Given the description of an element on the screen output the (x, y) to click on. 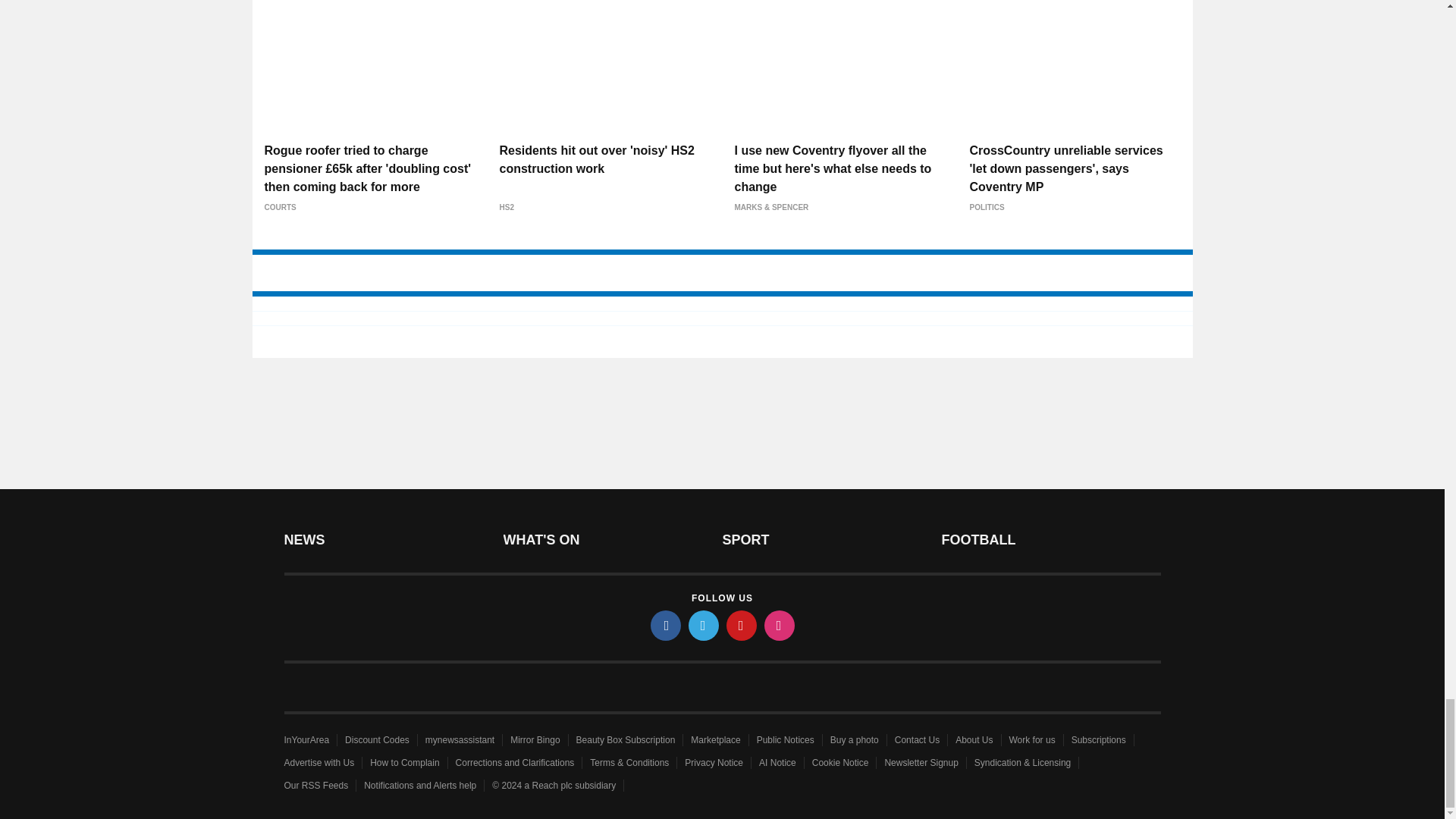
instagram (779, 625)
facebook (665, 625)
pinterest (741, 625)
twitter (703, 625)
